Given the description of an element on the screen output the (x, y) to click on. 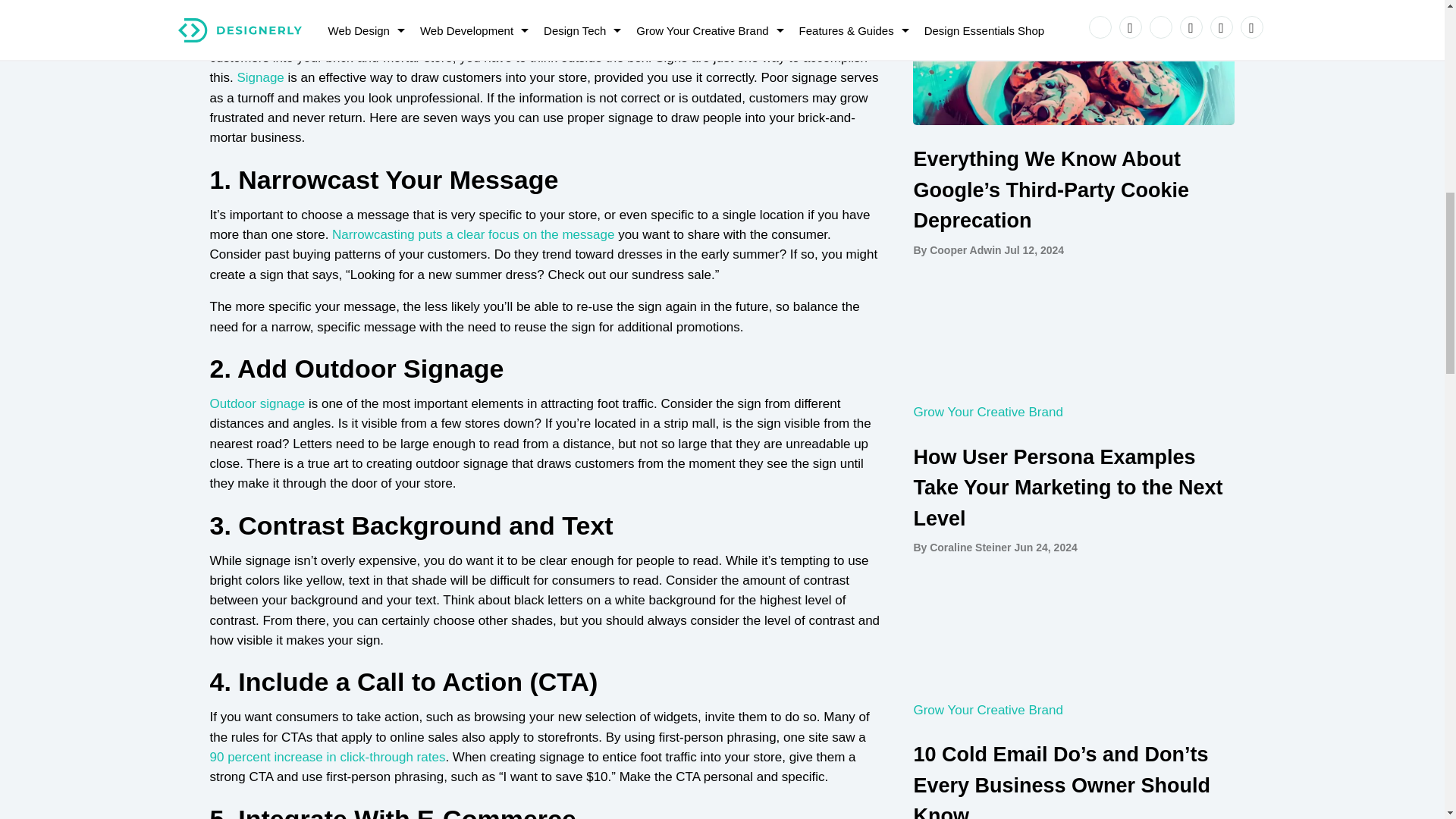
67 percent of millennials prefer online shopping (540, 27)
Signage (259, 77)
Narrowcasting puts a clear focus on the message (472, 234)
Outdoor signage (256, 403)
